Given the description of an element on the screen output the (x, y) to click on. 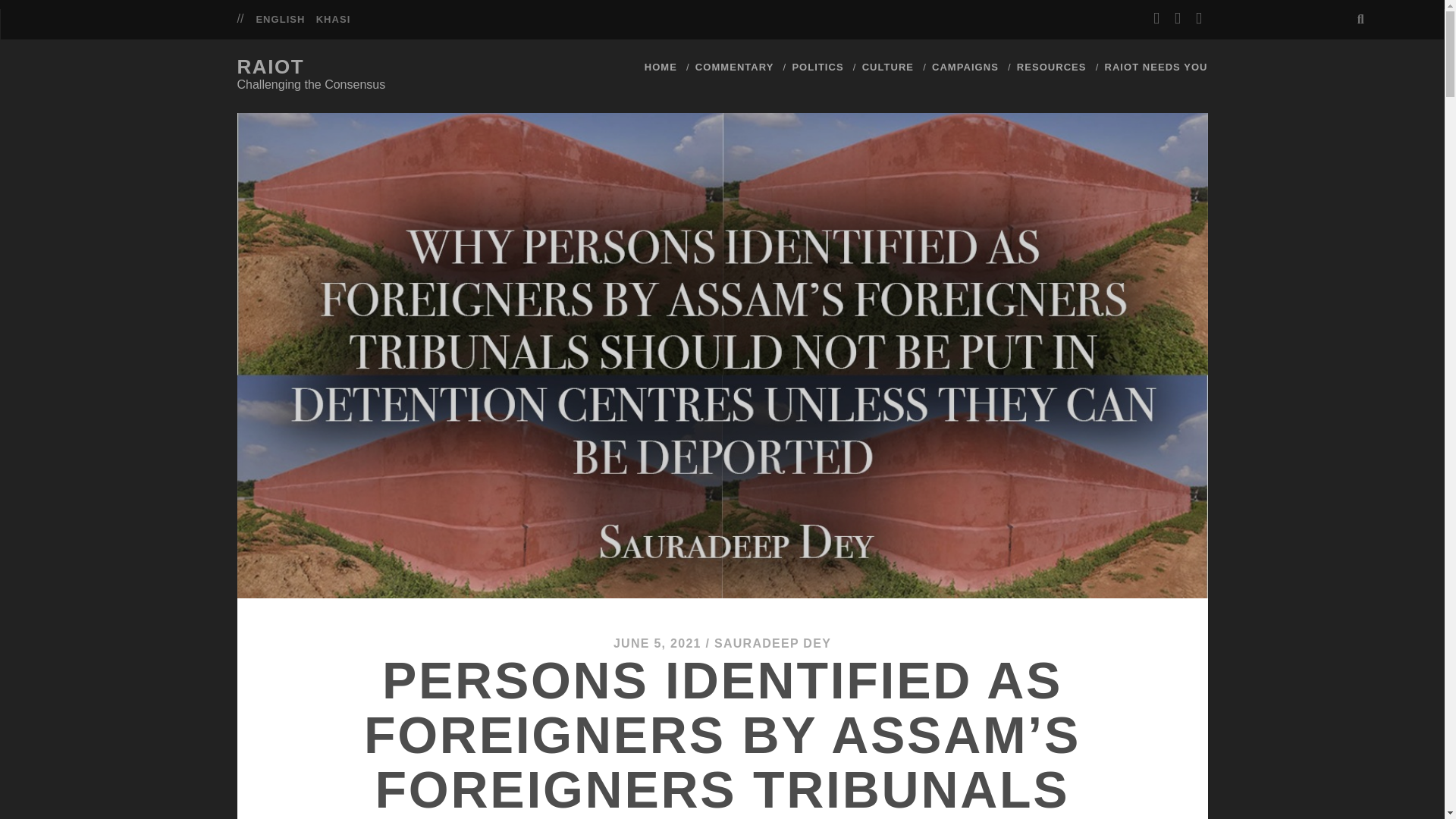
COMMENTARY (734, 67)
RESOURCES (1051, 67)
POLITICS (817, 67)
email (1198, 17)
SAURADEEP DEY (772, 643)
CULTURE (887, 67)
facebook (1177, 18)
twitter (1155, 18)
email (1198, 18)
twitter (1155, 17)
CAMPAIGNS (964, 67)
facebook (1177, 17)
Posts by Sauradeep Dey (772, 643)
KHASI (332, 19)
ENGLISH (280, 19)
